Given the description of an element on the screen output the (x, y) to click on. 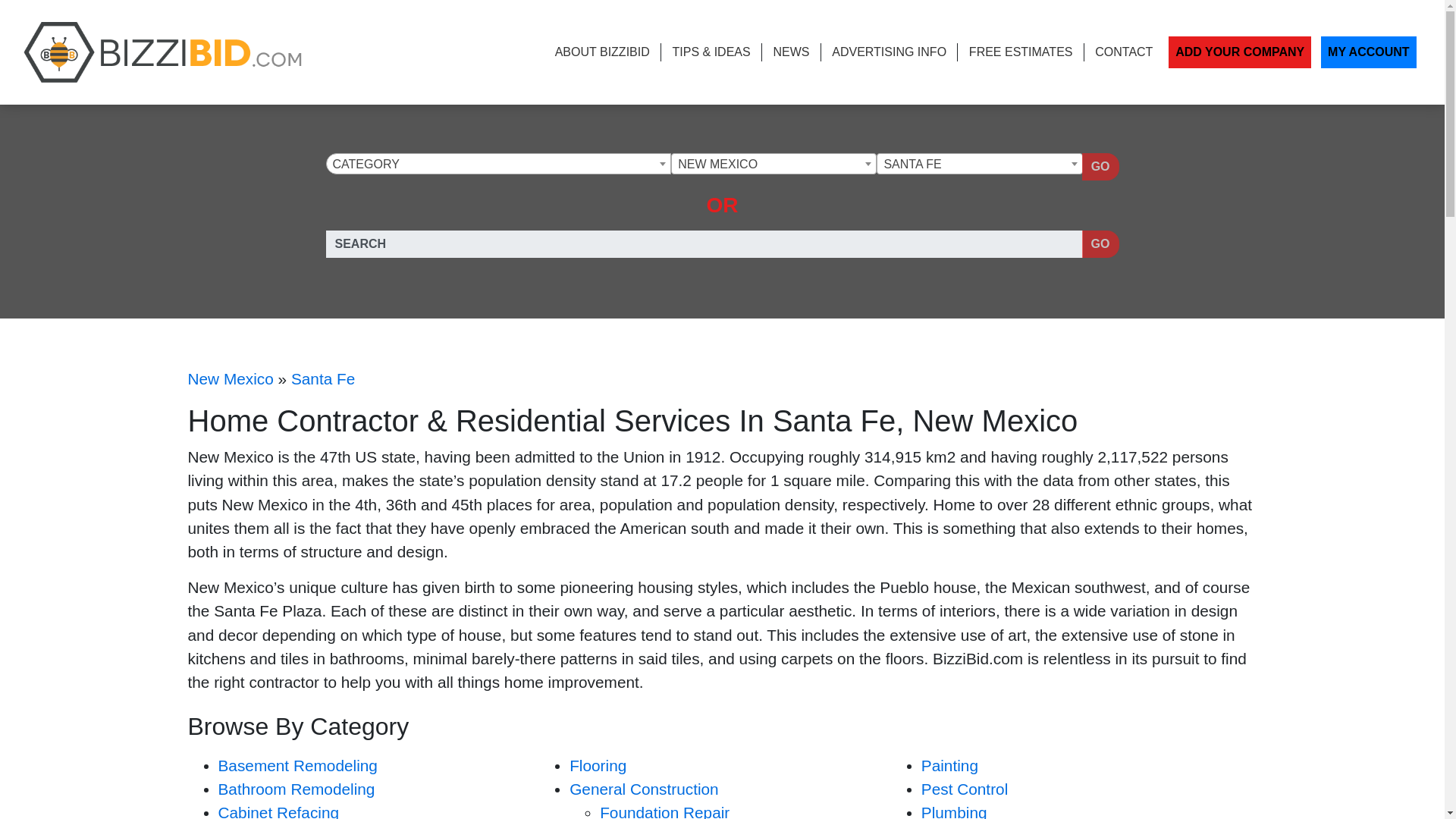
New Mexico (230, 378)
Santa Fe (323, 378)
Category (497, 164)
FREE ESTIMATES (1020, 52)
MY ACCOUNT (1368, 51)
CONTACT (1123, 52)
GO (1100, 166)
NEWS (791, 52)
Cabinet Refacing (278, 811)
ADD YOUR COMPANY (1240, 51)
Bathroom Remodeling (296, 788)
ABOUT BIZZIBID (602, 52)
Santa Fe (979, 164)
ADVERTISING INFO (888, 52)
Basement Remodeling (297, 764)
